Given the description of an element on the screen output the (x, y) to click on. 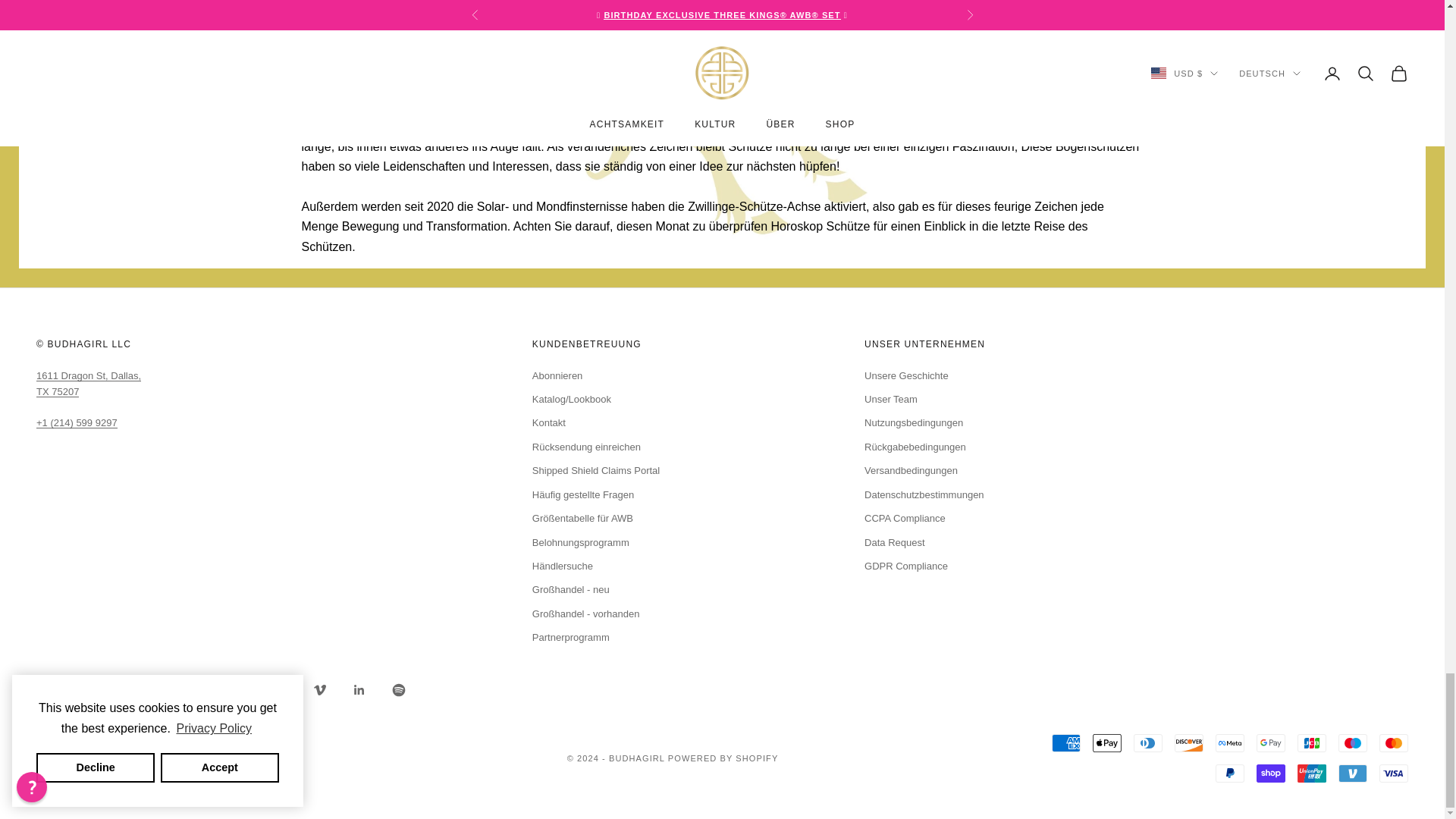
BuDhaGirl Wegbeschreibung mit Google Maps (88, 383)
